Given the description of an element on the screen output the (x, y) to click on. 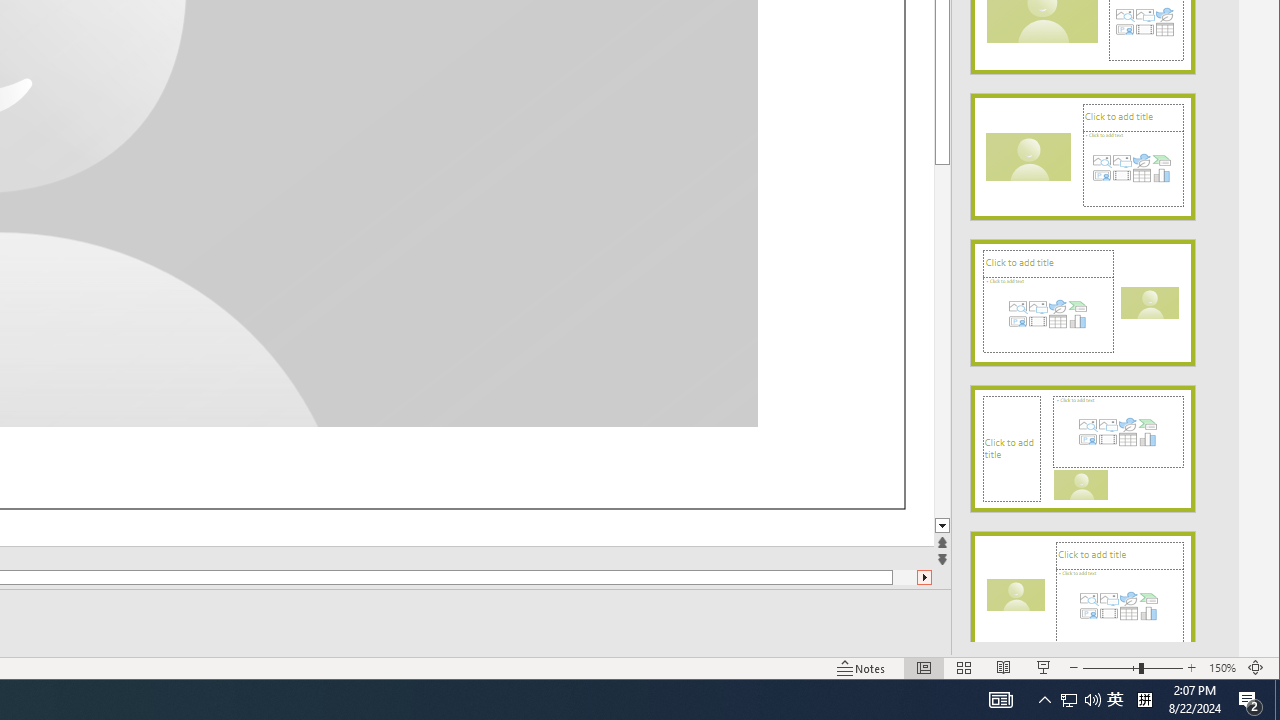
Zoom 150% (1222, 668)
Design Idea (1082, 588)
